Given the description of an element on the screen output the (x, y) to click on. 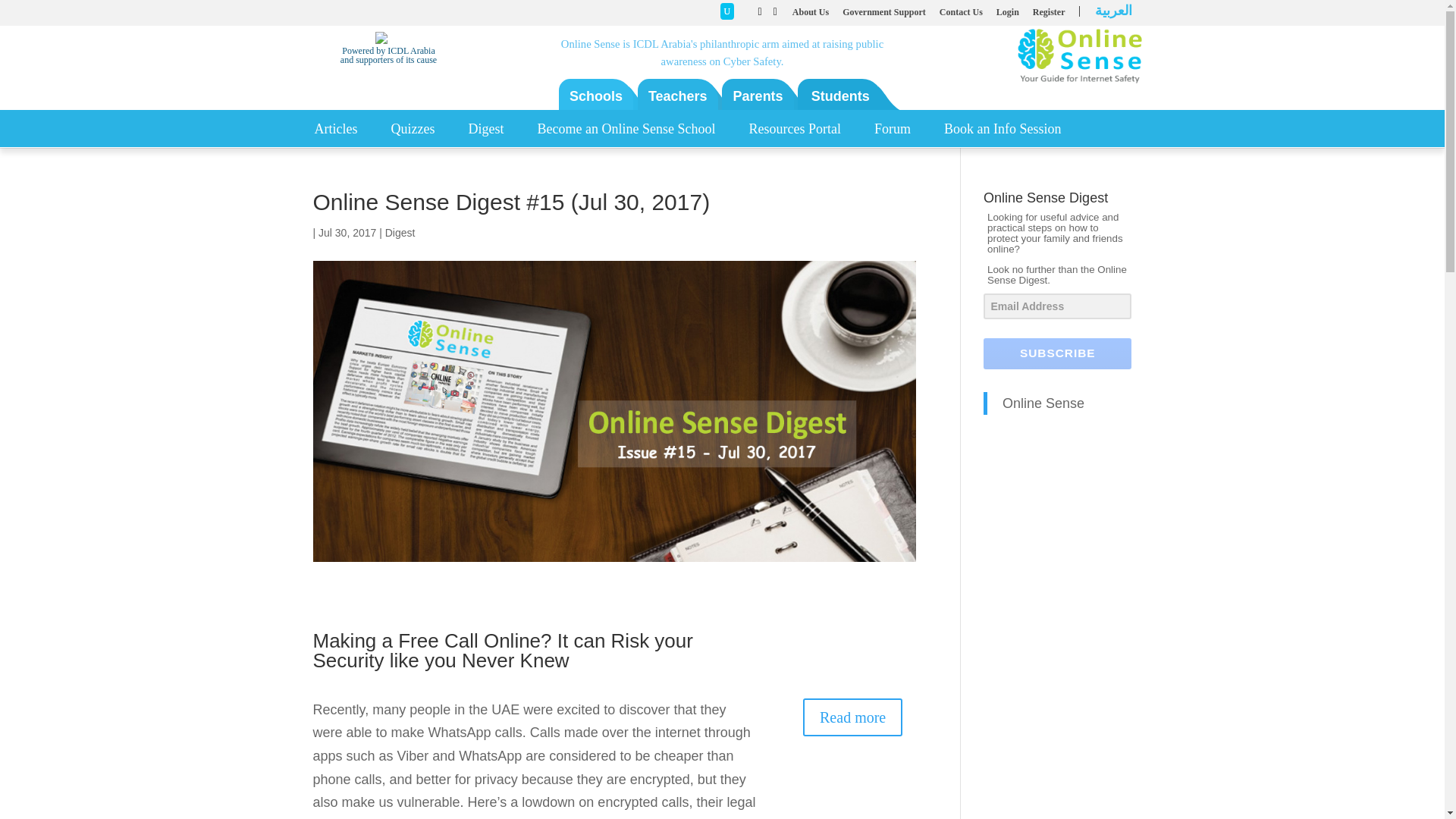
Parents (757, 96)
About Us (810, 15)
Students (839, 96)
Schools (595, 96)
Government Support (884, 15)
Login (1007, 15)
Register (1048, 15)
Contact Us (960, 15)
Teachers (677, 96)
